Given the description of an element on the screen output the (x, y) to click on. 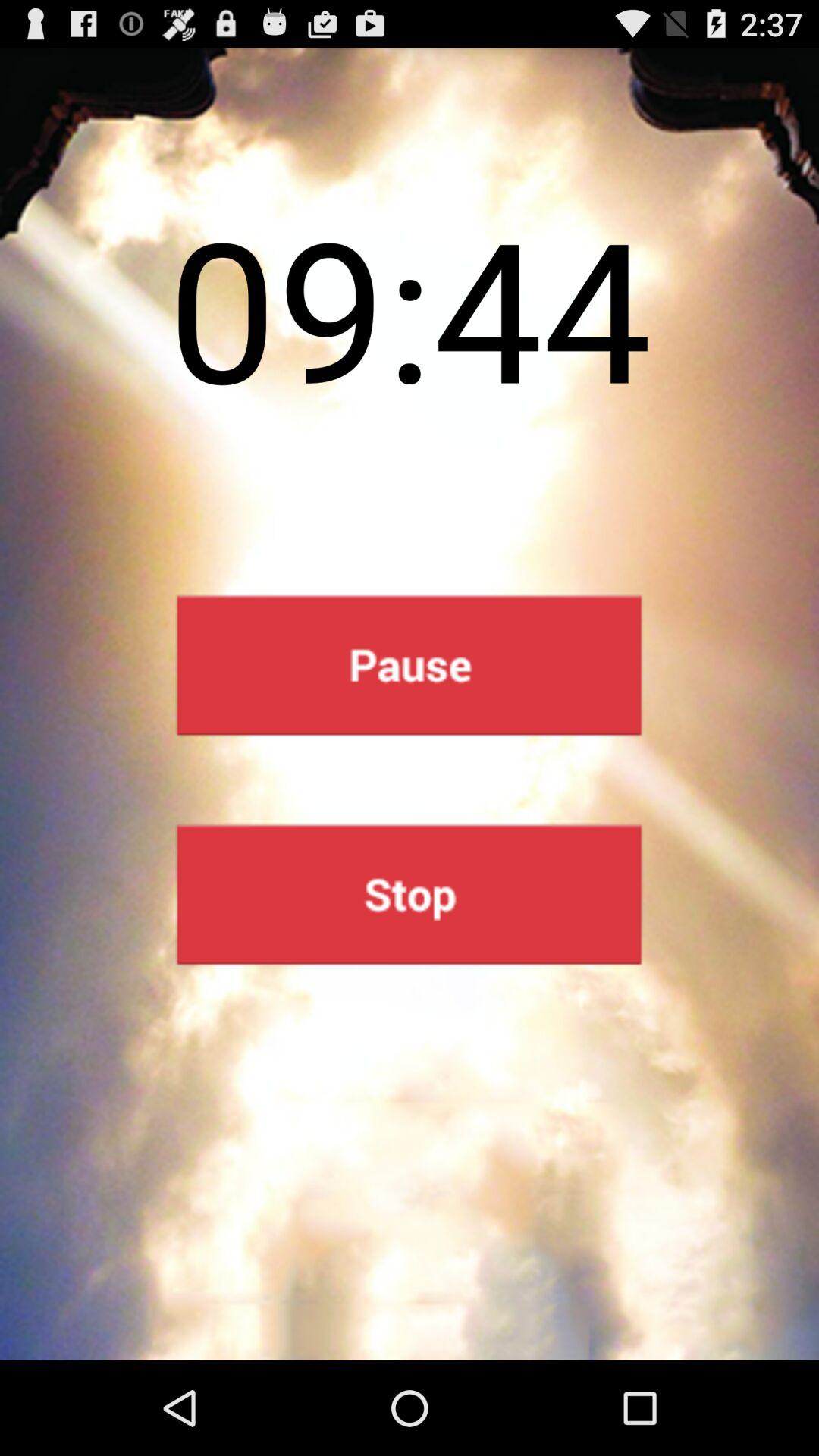
pause (409, 665)
